Given the description of an element on the screen output the (x, y) to click on. 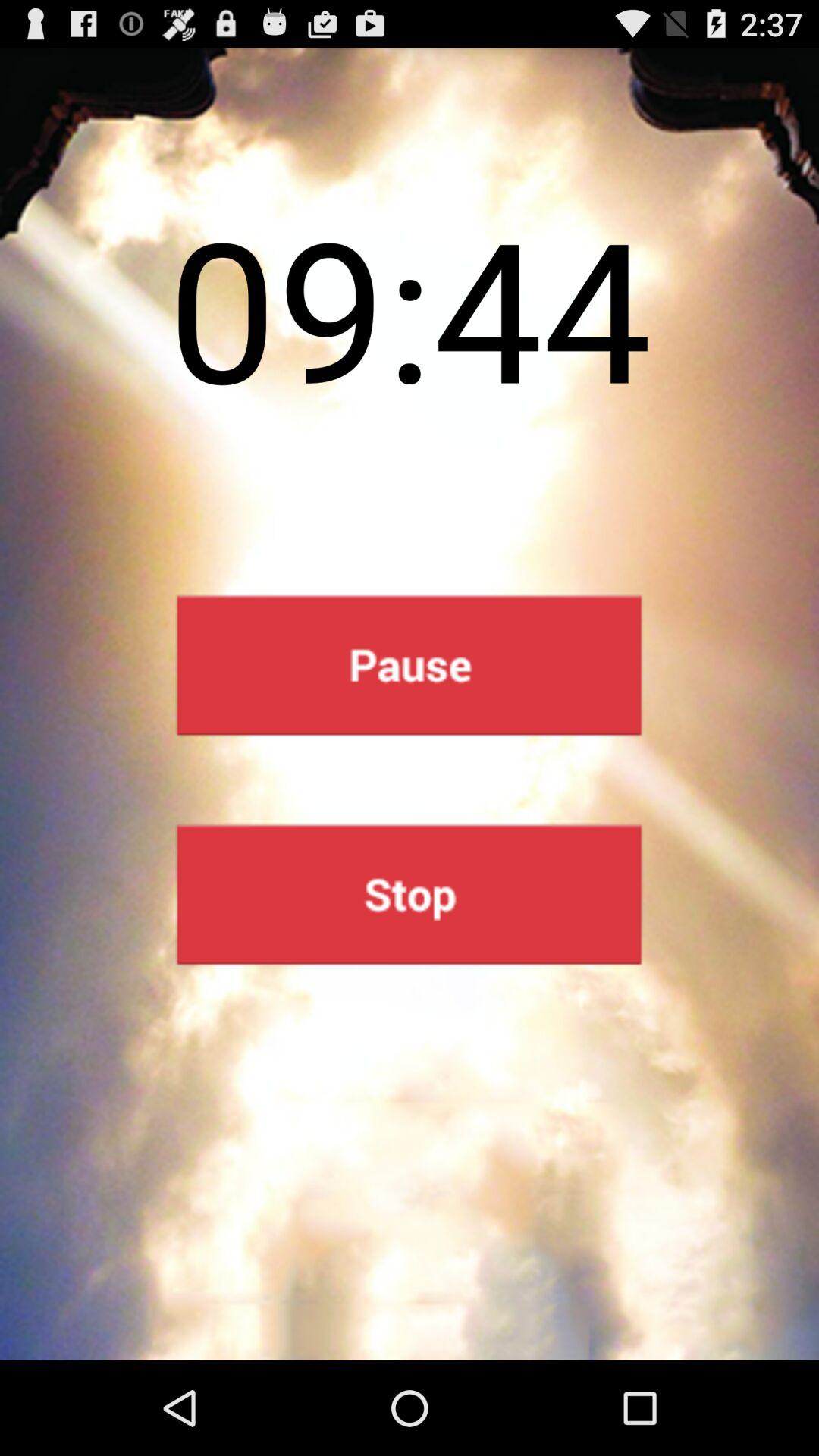
pause (409, 665)
